Given the description of an element on the screen output the (x, y) to click on. 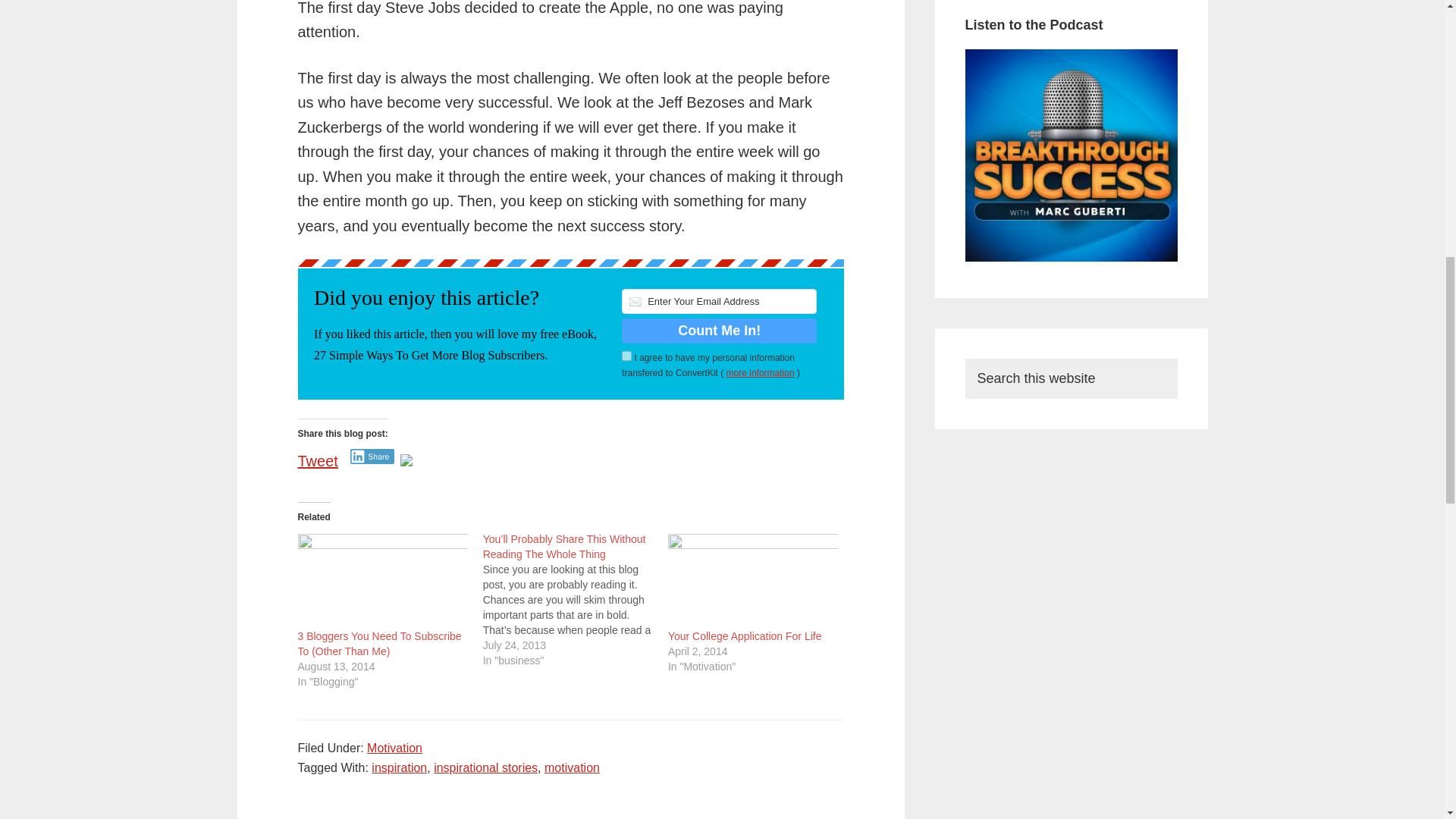
Your College Application For Life (745, 635)
Tweet (317, 455)
Share (372, 456)
more information (760, 372)
inspiration (398, 767)
motivation (571, 767)
Count Me In! (718, 330)
Motivation (394, 748)
Count Me In! (718, 330)
inspirational stories (485, 767)
Your College Application For Life (753, 579)
on (626, 356)
Your College Application For Life (745, 635)
